Given the description of an element on the screen output the (x, y) to click on. 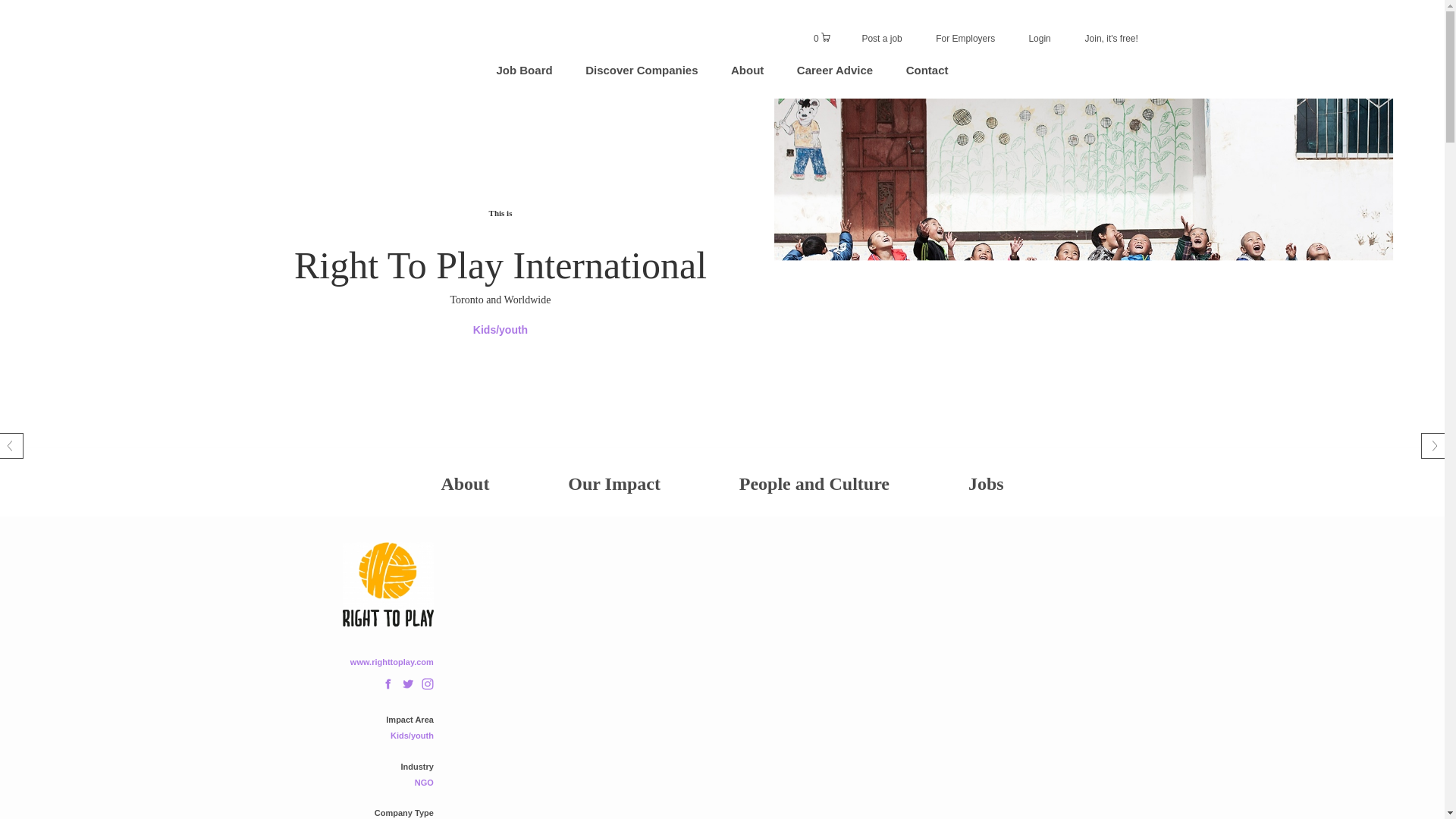
For Employers (965, 39)
Post a job (881, 39)
BMeaningful (346, 33)
Post a job (881, 39)
Contact (927, 70)
Jobs (985, 481)
Join, it's free! (1111, 39)
Career Advice (834, 70)
www.righttoplay.com (391, 661)
Login (1039, 39)
